Given the description of an element on the screen output the (x, y) to click on. 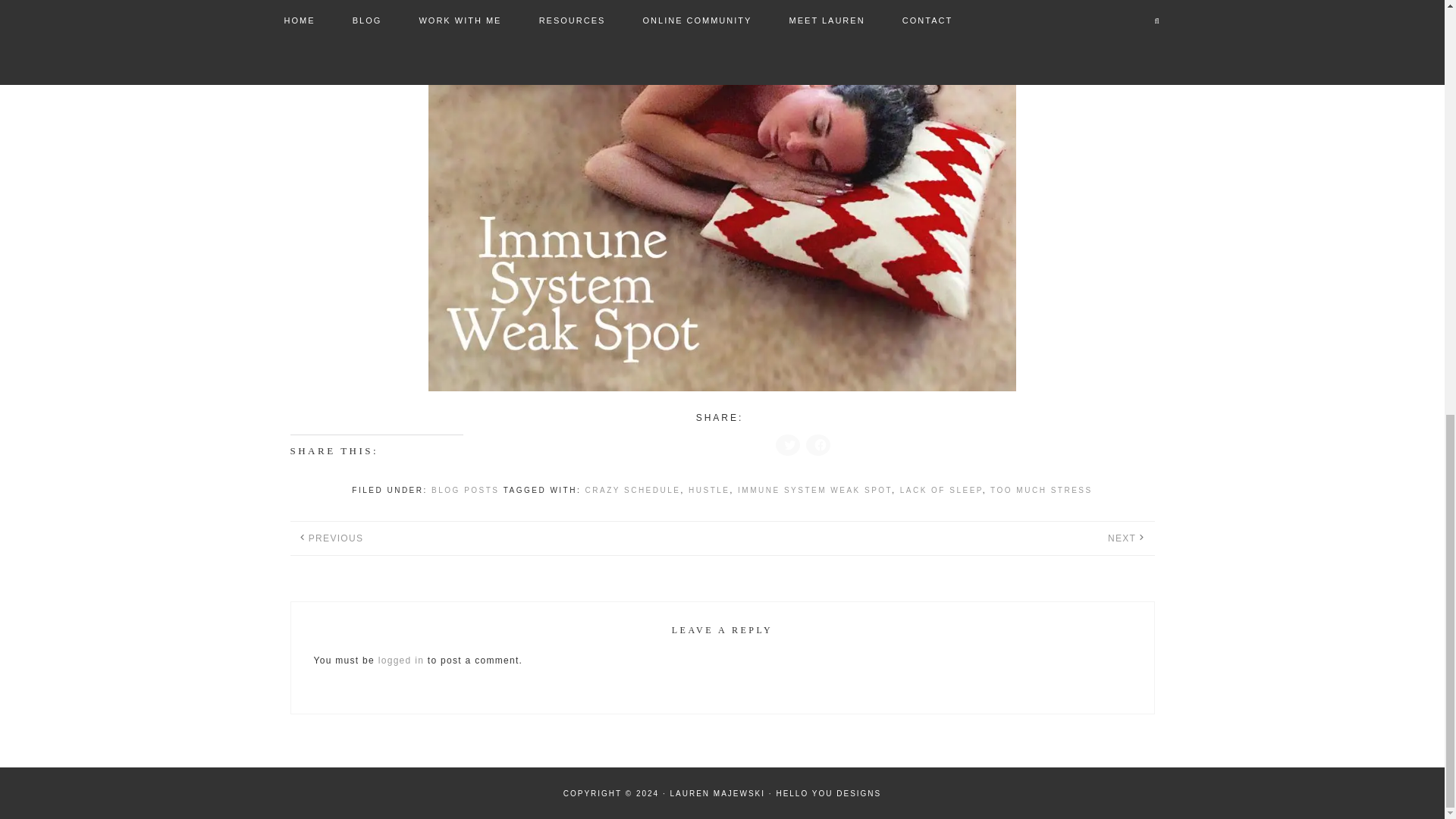
logged in (400, 660)
PREVIOUS (335, 538)
CRAZY SCHEDULE (633, 490)
NEXT (1121, 538)
Click to share on Facebook (817, 444)
HELLO YOU DESIGNS (828, 793)
LACK OF SLEEP (940, 490)
HUSTLE (708, 490)
BLOG POSTS (464, 490)
Click to share on Twitter (786, 444)
